Given the description of an element on the screen output the (x, y) to click on. 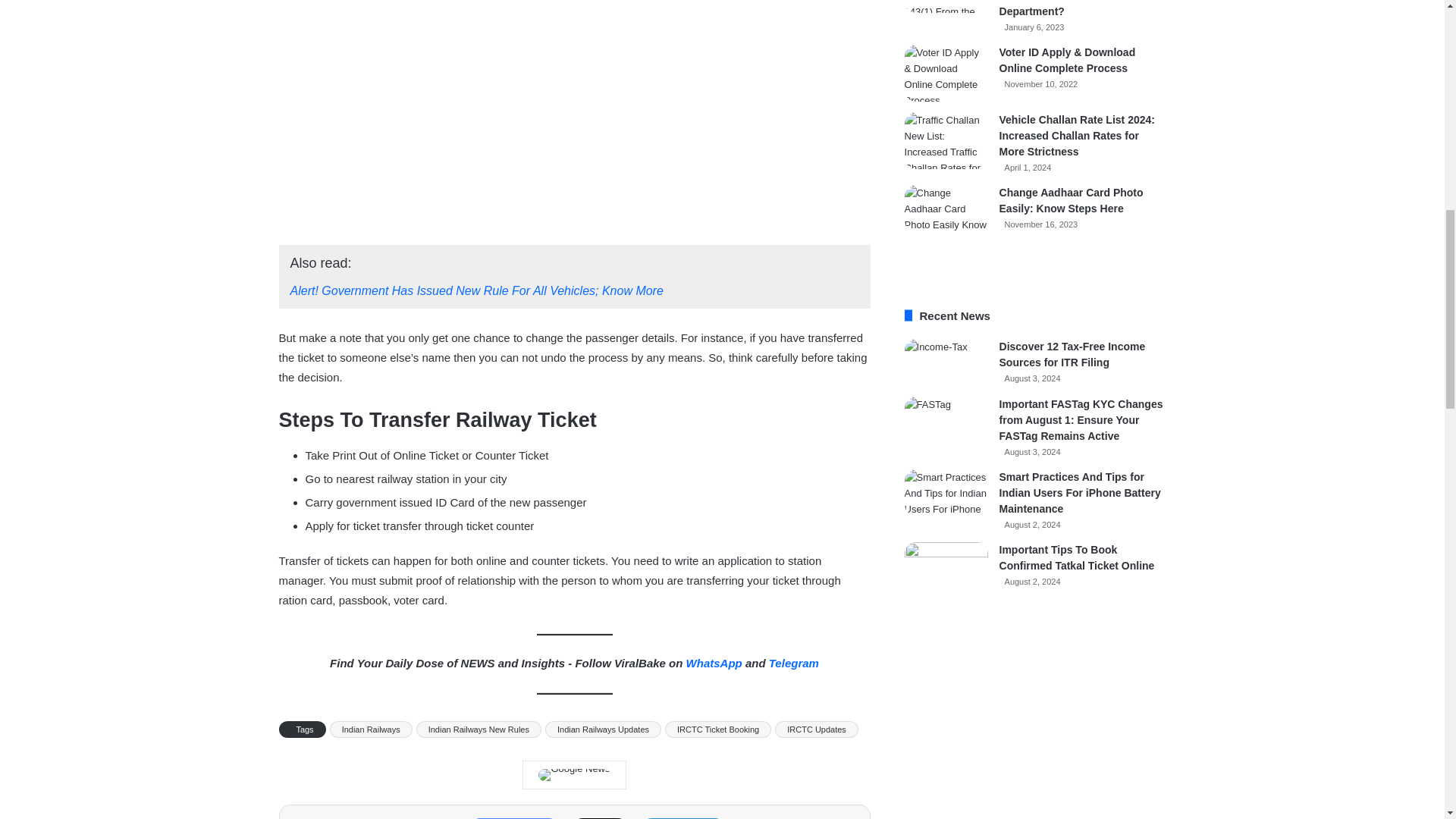
Google News (574, 774)
